Given the description of an element on the screen output the (x, y) to click on. 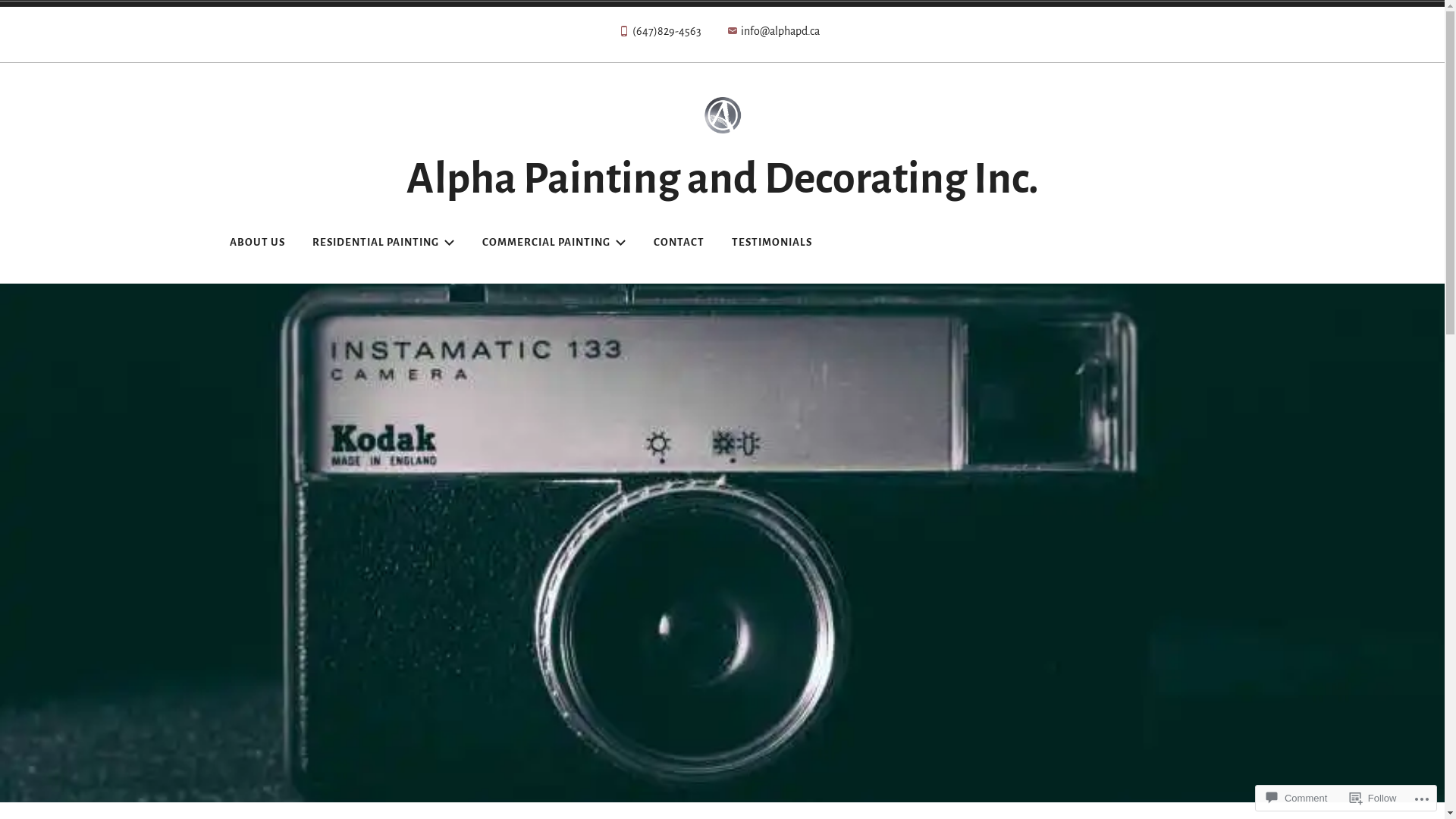
RESIDENTIAL PAINTING Element type: text (382, 242)
Comment Element type: text (1296, 797)
COMMERCIAL PAINTING Element type: text (553, 242)
Phone (647)829-4563 Element type: text (658, 34)
Alpha Painting and Decorating Inc. Element type: text (722, 178)
Follow Element type: text (1372, 797)
TESTIMONIALS Element type: text (771, 242)
E-mail info@alphapd.ca Element type: text (772, 34)
ABOUT US Element type: text (257, 242)
CONTACT Element type: text (678, 242)
